Given the description of an element on the screen output the (x, y) to click on. 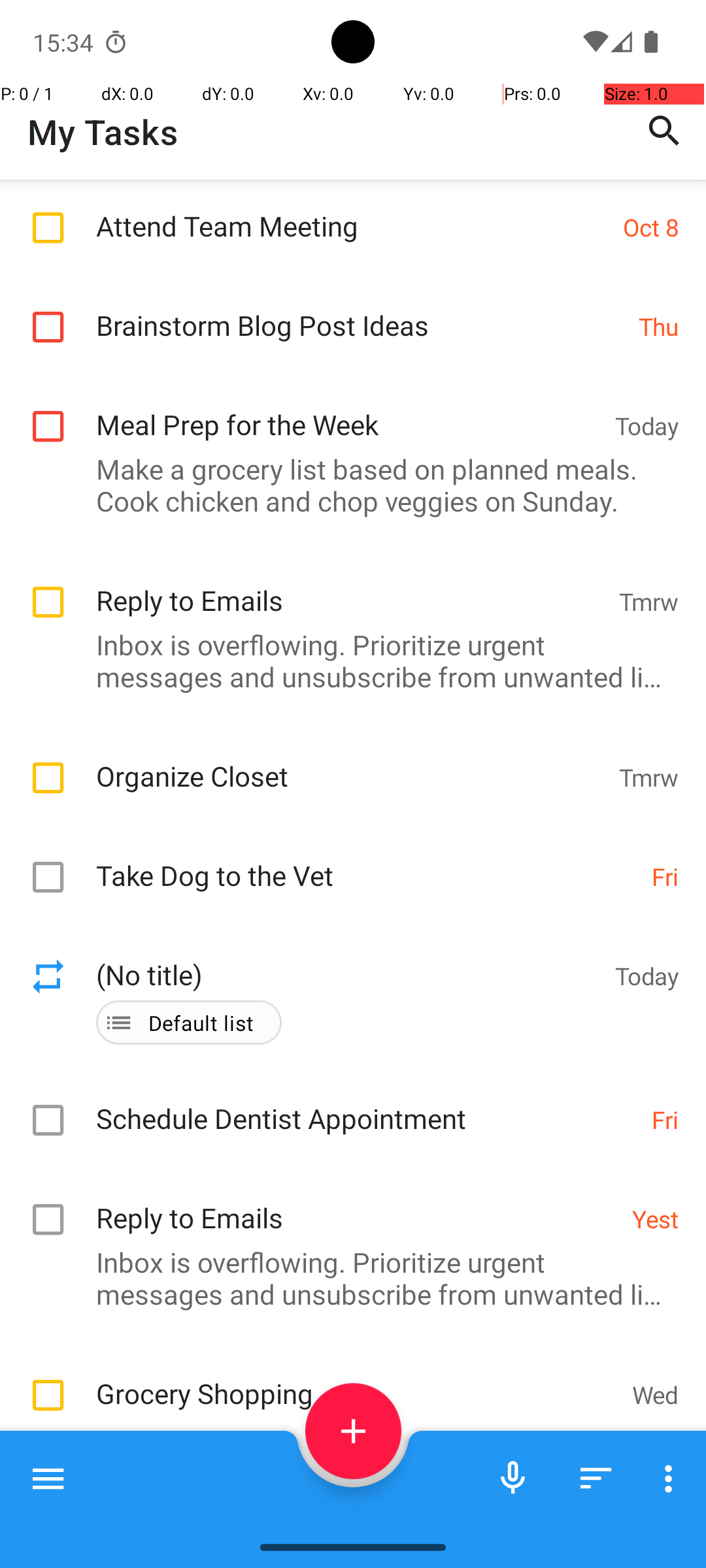
(No title) Element type: android.widget.TextView (348, 960)
